Given the description of an element on the screen output the (x, y) to click on. 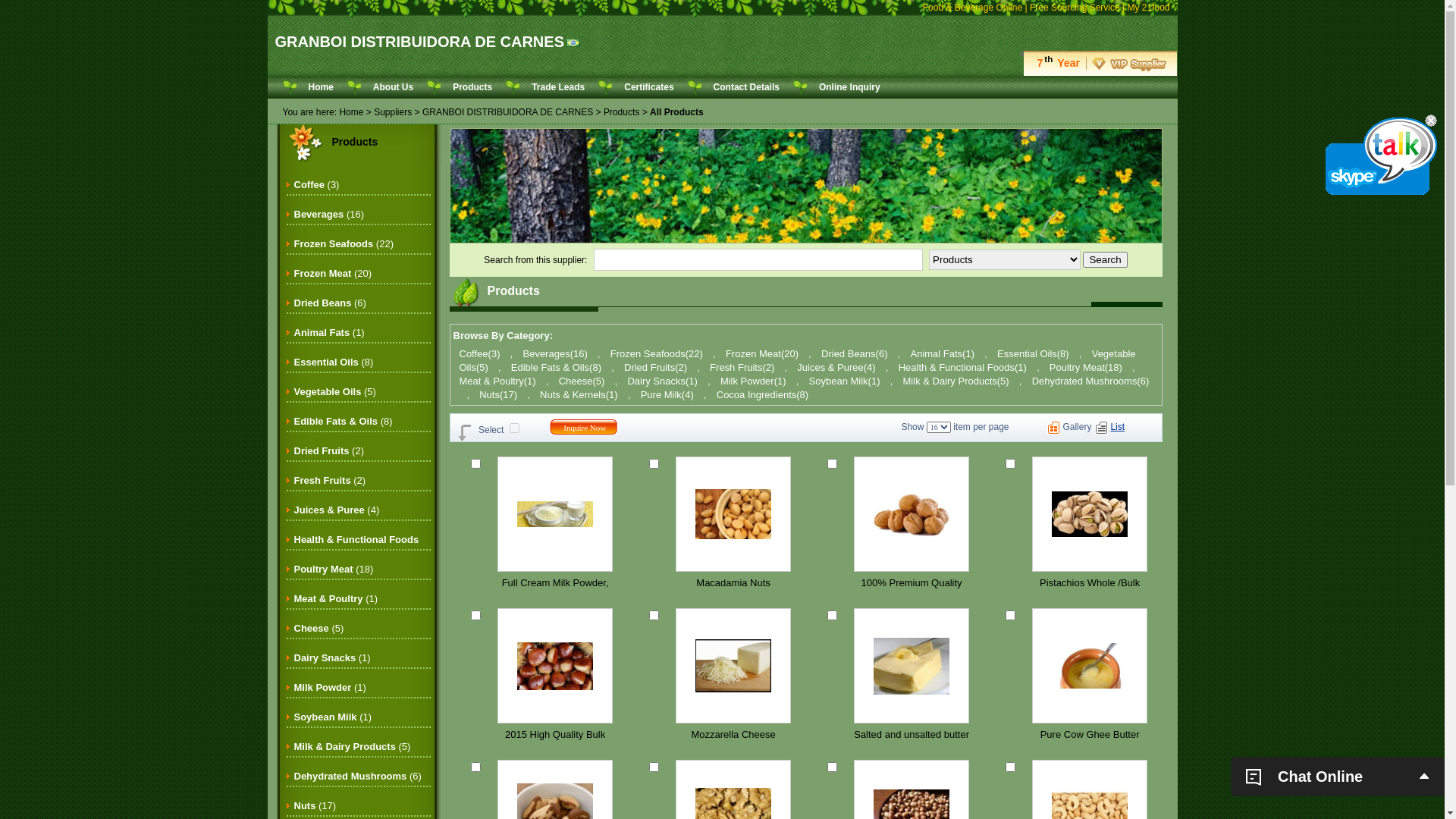
Products Element type: text (472, 86)
Milk & Dairy Products(5) Element type: text (956, 380)
Frozen Meat(20) Element type: text (761, 353)
Inquire Now Element type: text (584, 427)
My 21food Element type: text (1147, 7)
Animal Fats(1) Element type: text (942, 353)
Home Element type: text (319, 86)
Meat & Poultry(1) Element type: text (497, 380)
Milk Powder(1) Element type: text (753, 380)
Mozzarella Cheese (Mozzarella Cheese) Element type: text (733, 734)
Trade Leads Element type: text (557, 86)
2022721 Element type: text (832, 766)
Dried Beans (6) Element type: text (330, 302)
2022586 Element type: text (653, 615)
Contact Details Element type: text (746, 86)
Macadamia Nuts Element type: text (733, 582)
Coffee (3) Element type: text (316, 184)
Soybean Milk(1) Element type: text (844, 380)
Health & Functional Foods Element type: text (356, 548)
2022726 Element type: text (832, 463)
Soybean Milk (1) Element type: text (333, 716)
Juices & Puree (4) Element type: text (336, 509)
Pure Milk(4) Element type: text (666, 394)
Poultry Meat(18) Element type: text (1085, 367)
Juices & Puree(4) Element type: text (836, 367)
Vegetable Oils (5) Element type: text (335, 391)
Cheese(5) Element type: text (581, 380)
2022578 Element type: text (475, 463)
Fresh Fruits (2) Element type: text (330, 480)
Dairy Snacks (1) Element type: text (332, 657)
Search Element type: text (1104, 259)
GRANBOI DISTRIBUIDORA DE CARNES Element type: text (507, 111)
2015 High Quality Bulk Chestnut in Brazil Element type: text (555, 734)
Coffee(3) Element type: text (479, 353)
Suppliers Element type: text (392, 111)
Poultry Meat (18) Element type: text (333, 568)
Pistachios Whole /Bulk Healthy Nut Green Kernel Piatachios Element type: text (1089, 582)
Dried Beans(6) Element type: text (854, 353)
Beverages(16) Element type: text (554, 353)
Animal Fats (1) Element type: text (329, 332)
Products Element type: text (621, 111)
Essential Oils (8) Element type: text (333, 361)
Online Inquiry Element type: text (849, 86)
Essential Oils(8) Element type: text (1033, 353)
7thYear Element type: text (1098, 62)
Fresh Fruits(2) Element type: text (741, 367)
2022725 Element type: text (1010, 463)
Nuts & Kernels(1) Element type: text (578, 394)
Frozen Meat (20) Element type: text (333, 273)
Beverages (16) Element type: text (329, 213)
Vegetable Oils(5) Element type: text (797, 360)
Free Sourcing Service Element type: text (1074, 7)
List Element type: text (1117, 426)
2022727 Element type: text (653, 463)
About Us Element type: text (393, 86)
Meat & Poultry (1) Element type: text (336, 598)
2022585 Element type: text (832, 615)
2022582 Element type: text (475, 766)
Health & Functional Foods(1) Element type: text (962, 367)
Products Element type: text (355, 141)
Edible Fats & Oils(8) Element type: text (556, 367)
Home Element type: text (350, 111)
Pure Cow Ghee Butter Element type: text (1089, 734)
Nuts (17) Element type: text (315, 805)
Dehydrated Mushrooms(6) Element type: text (1090, 380)
Dairy Snacks(1) Element type: text (661, 380)
Salted and unsalted butter Element type: text (911, 734)
Nuts(17) Element type: text (498, 394)
Cheese (5) Element type: text (319, 627)
Dehydrated Mushrooms (6) Element type: text (357, 775)
2022720 Element type: text (1010, 766)
2022724 Element type: text (475, 615)
2022722 Element type: text (653, 766)
Milk & Dairy Products (5) Element type: text (352, 746)
Cocoa Ingredients(8) Element type: text (762, 394)
Edible Fats & Oils (8) Element type: text (343, 420)
Dried Fruits (2) Element type: text (329, 450)
Milk Powder (1) Element type: text (330, 687)
All Products Element type: text (676, 111)
Food & Beverage Online Element type: text (972, 7)
Frozen Seafoods(22) Element type: text (656, 353)
2022583 Element type: text (1010, 615)
Frozen Seafoods (22) Element type: text (343, 243)
Certificates Element type: text (648, 86)
Dried Fruits(2) Element type: text (655, 367)
